Given the description of an element on the screen output the (x, y) to click on. 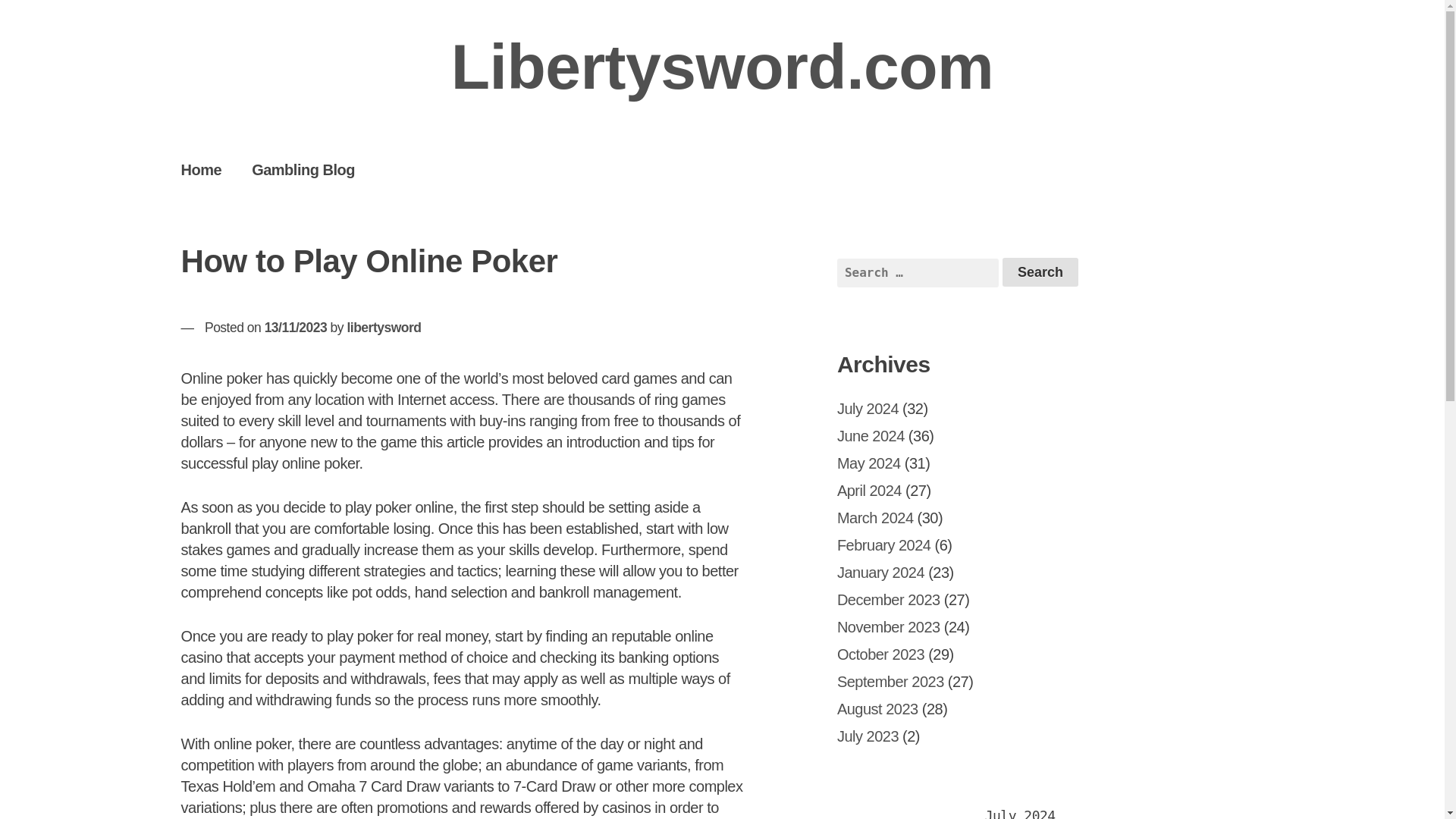
Search (1040, 271)
August 2023 (877, 709)
Libertysword.com (721, 66)
July 2024 (867, 408)
Gambling Blog (302, 169)
June 2024 (870, 435)
Search (1040, 271)
March 2024 (875, 517)
Search (1040, 271)
December 2023 (888, 599)
September 2023 (890, 681)
May 2024 (869, 463)
April 2024 (869, 490)
November 2023 (888, 627)
February 2024 (884, 545)
